Given the description of an element on the screen output the (x, y) to click on. 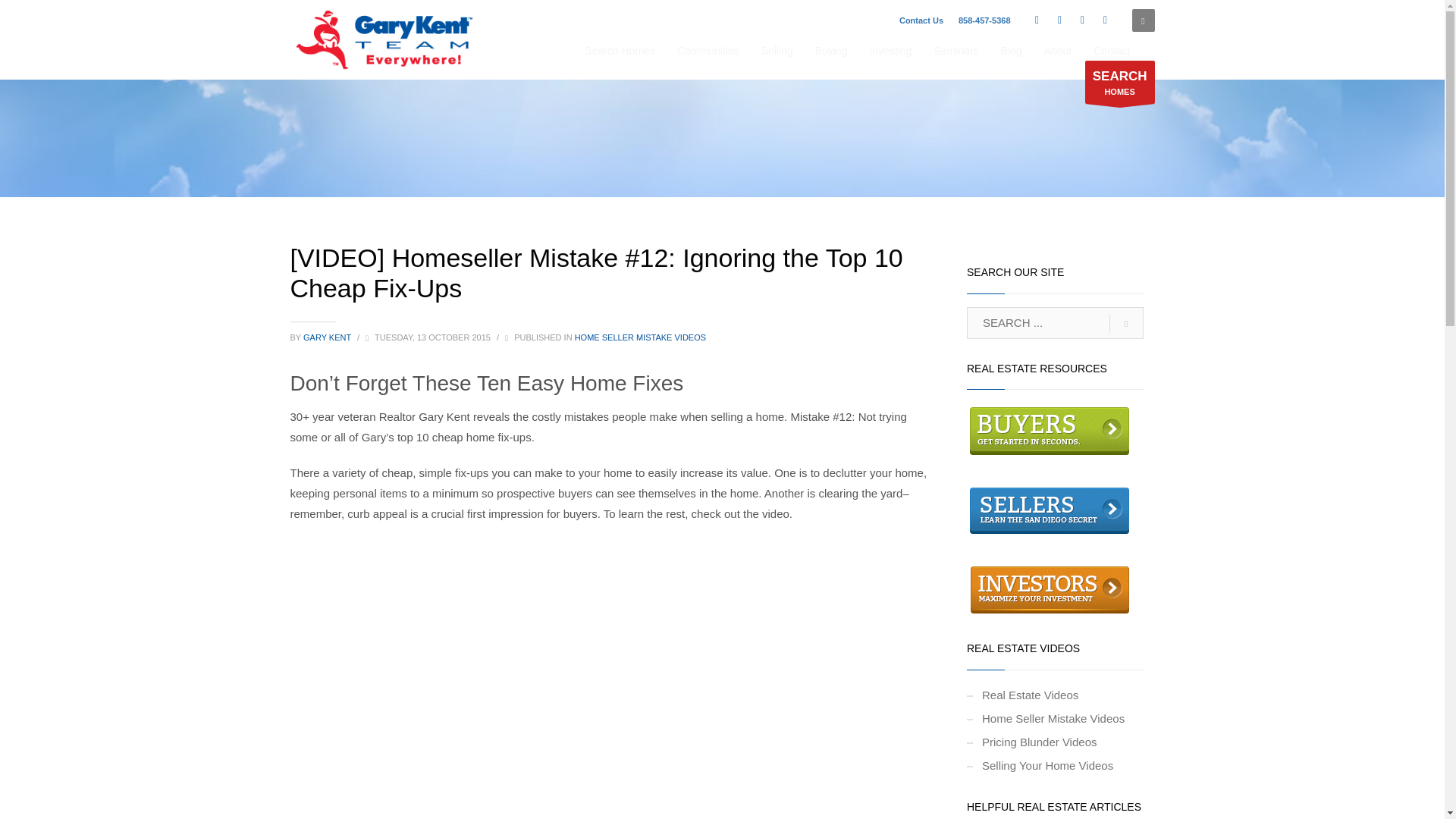
Search San Diego Homes (1119, 82)
Contact Us (921, 20)
Facebook (1037, 20)
Real Estate Resources (1050, 430)
LinkedIn (1082, 20)
Communities (708, 50)
Pinterest (1105, 20)
Twitter (1059, 20)
Search Homes (619, 50)
858-457-5368 (984, 20)
Seen Everywhere (385, 39)
